Given the description of an element on the screen output the (x, y) to click on. 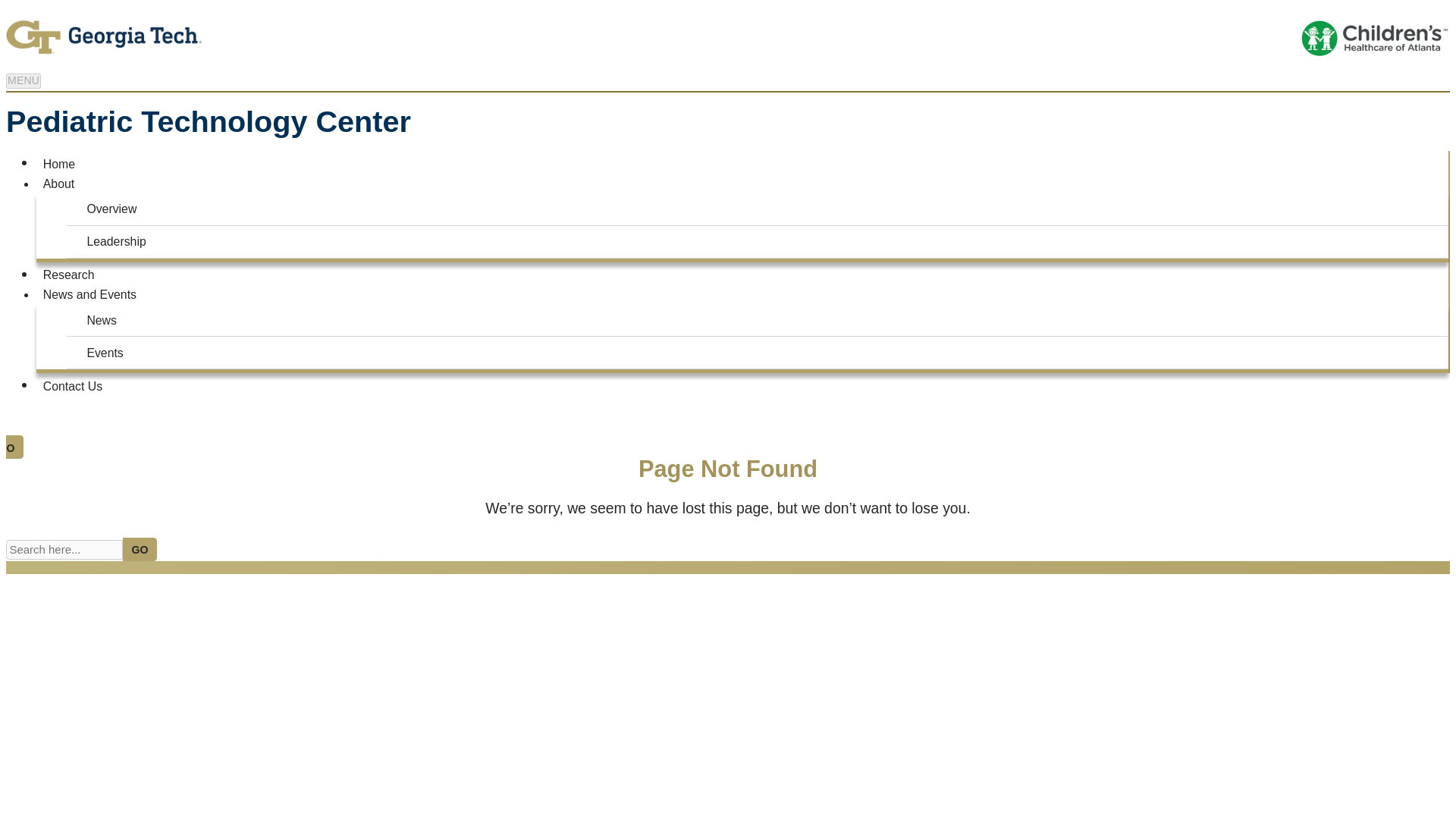
Research (68, 274)
GO (139, 549)
Georgia Institute of Technology (366, 36)
Contact Us (72, 385)
Pediatric Technology Center (207, 121)
GO (11, 446)
MENU (22, 80)
Events (761, 352)
Leadership (761, 241)
